Given the description of an element on the screen output the (x, y) to click on. 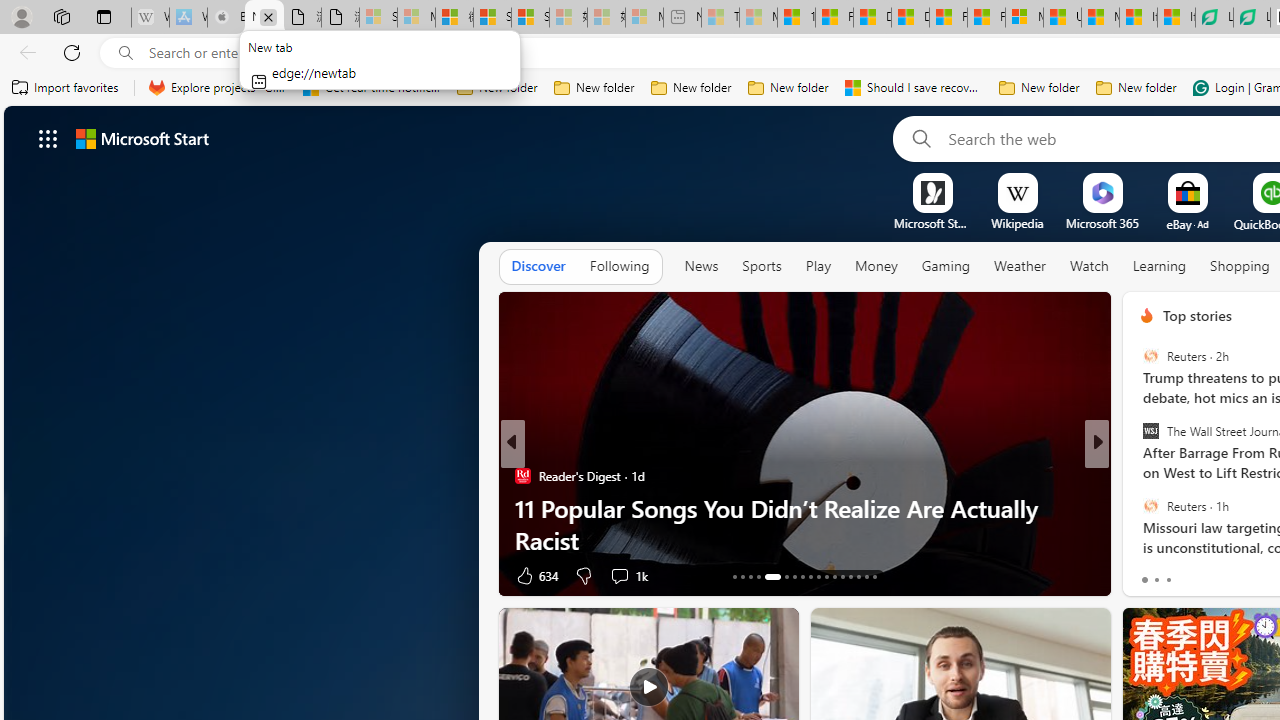
634 Like (535, 574)
View comments 18 Comment (1244, 574)
AutomationID: tab-23 (825, 576)
View comments 18 Comment (1234, 575)
Should I save recovered Word documents? - Microsoft Support (913, 88)
